Given the description of an element on the screen output the (x, y) to click on. 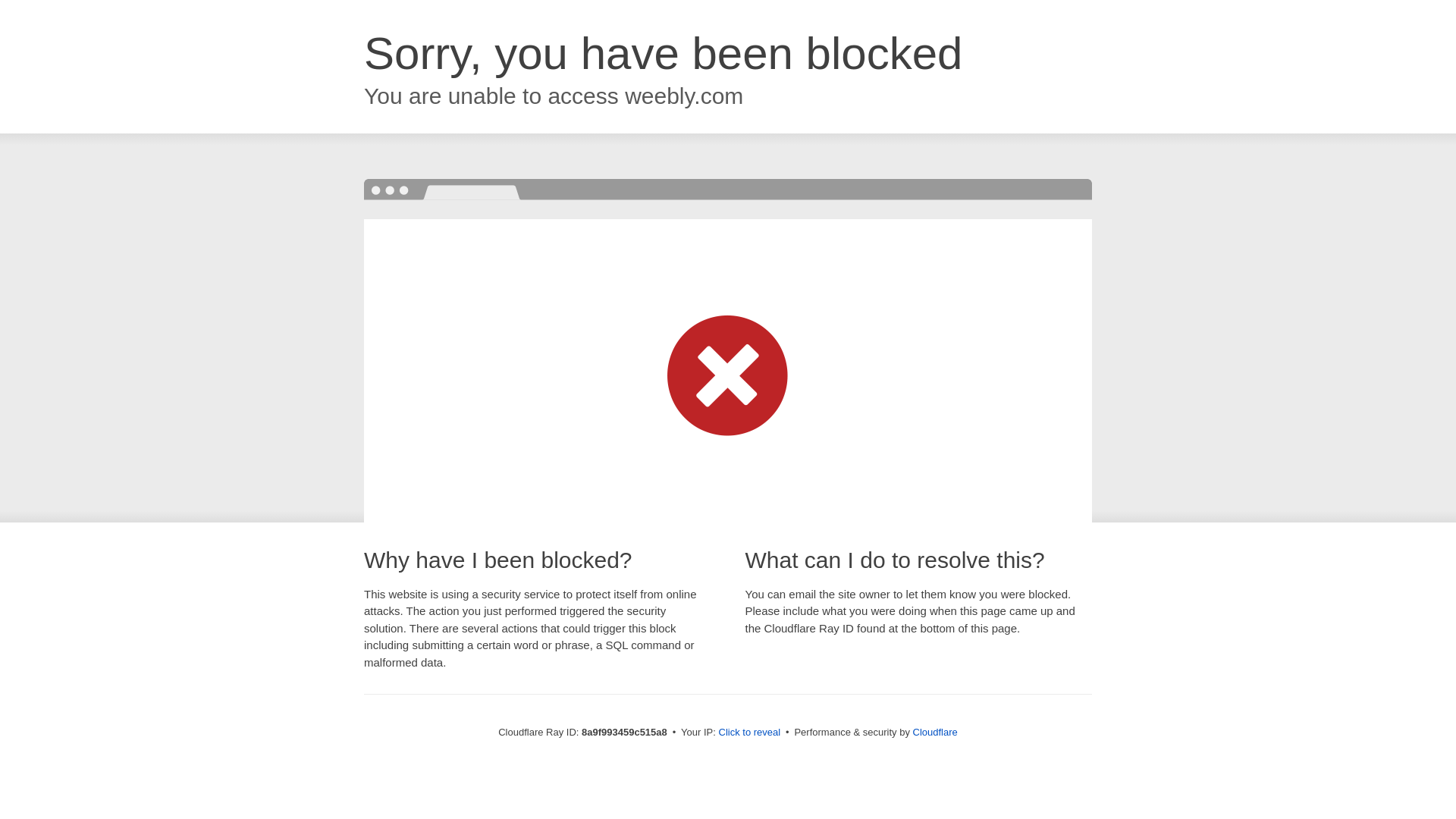
Cloudflare (935, 731)
Click to reveal (749, 732)
